Given the description of an element on the screen output the (x, y) to click on. 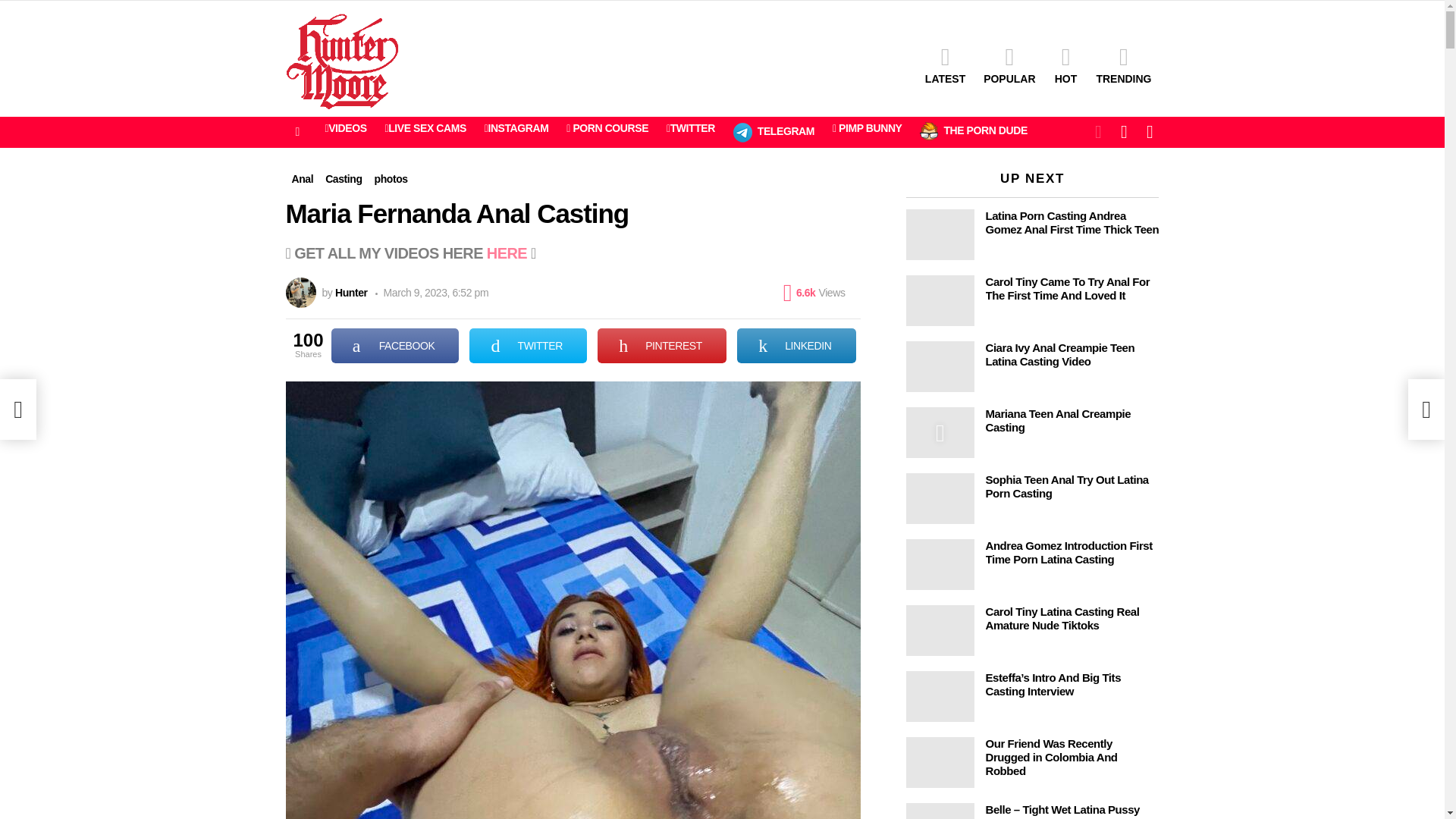
HOT (1064, 65)
PINTEREST (661, 345)
TWITTER (527, 345)
Share on Twitter (527, 345)
Share on Facebook (395, 345)
Share on LinkedIn (796, 345)
TELEGRAM (773, 132)
LATEST (944, 65)
THE PORN DUDE (972, 131)
POPULAR (1008, 65)
Hunter (351, 292)
Posts by Hunter (351, 292)
FACEBOOK (395, 345)
Share on Pinterest (661, 345)
photos (390, 178)
